Given the description of an element on the screen output the (x, y) to click on. 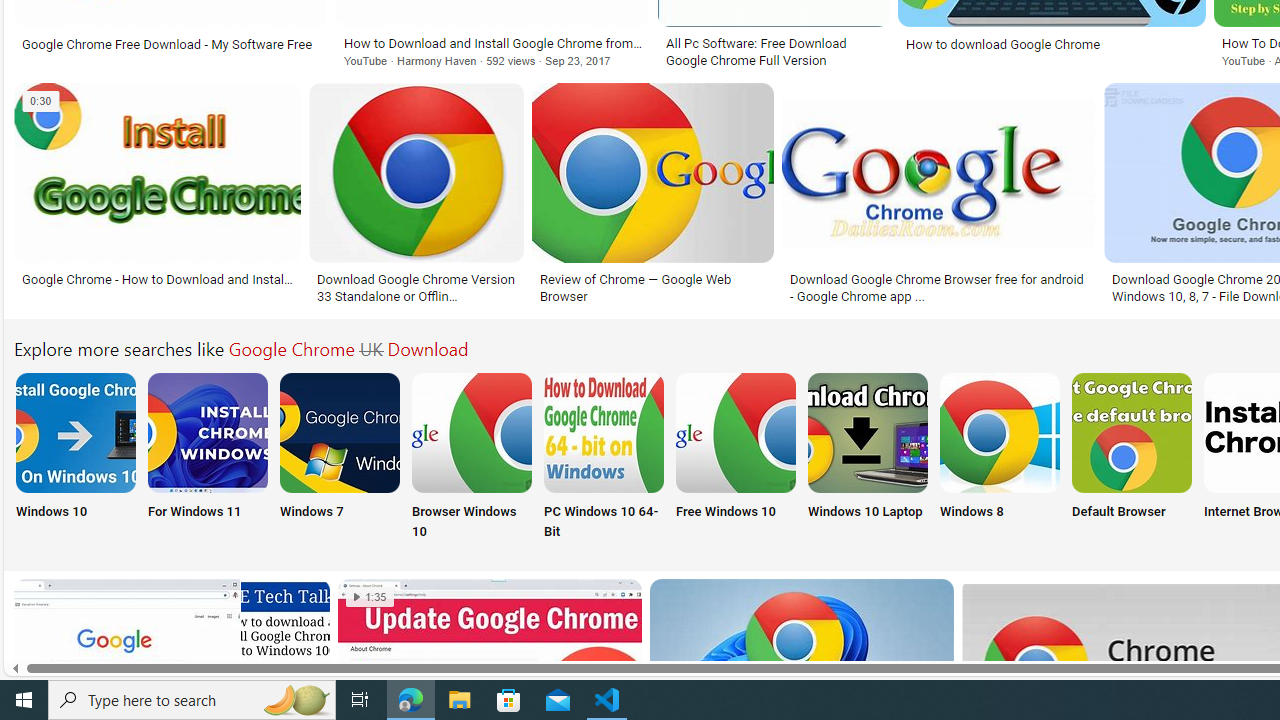
Google Chrome Download Windows 7 Windows 7 (339, 458)
Google Chrome Download Windows 8 Windows 8 (999, 458)
Google Chrome - How to Download and Install Google Chrome (157, 279)
Image result for Google Chrome UK Download (938, 172)
Google Chrome Download in Windows 10 Laptop (867, 432)
Google Chrome Default Browser Download Default Browser (1131, 458)
Google Chrome Download Windows 7 (339, 432)
PC Windows 10 64-Bit (604, 457)
How to download Google Chrome (1052, 44)
For Windows 11 (207, 457)
